Given the description of an element on the screen output the (x, y) to click on. 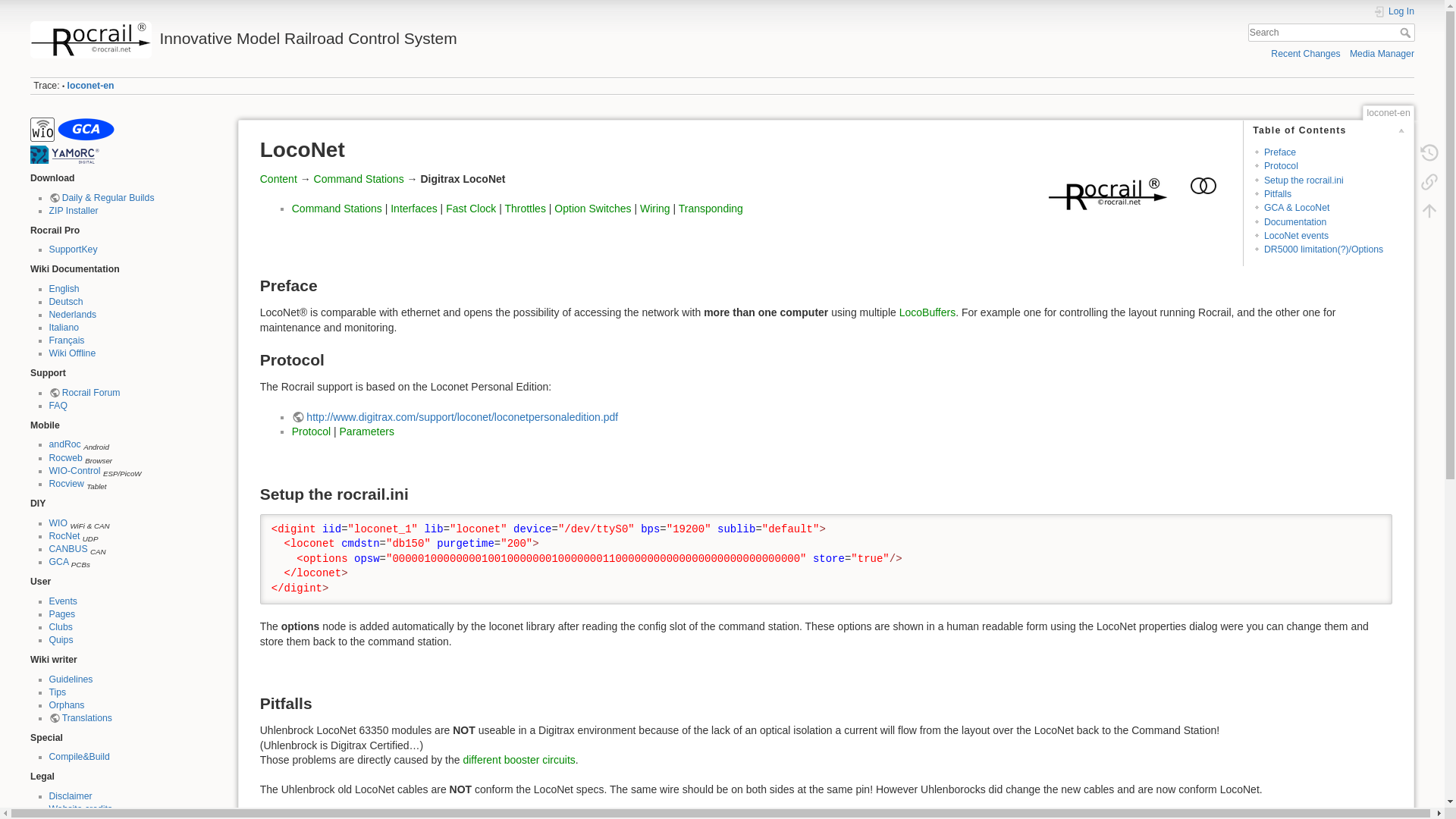
Quips (60, 639)
wio:firststeps-en (42, 128)
hardware-en (85, 128)
Nederlands (72, 314)
loconet-en (90, 85)
english (63, 288)
Rocrail Forum (83, 392)
Italiano (63, 327)
RocNet (64, 535)
WIO (57, 522)
Recent Changes (1305, 53)
Media Manager (1381, 53)
Log In (1393, 11)
supportkey-en (72, 249)
Orphans (66, 705)
